Given the description of an element on the screen output the (x, y) to click on. 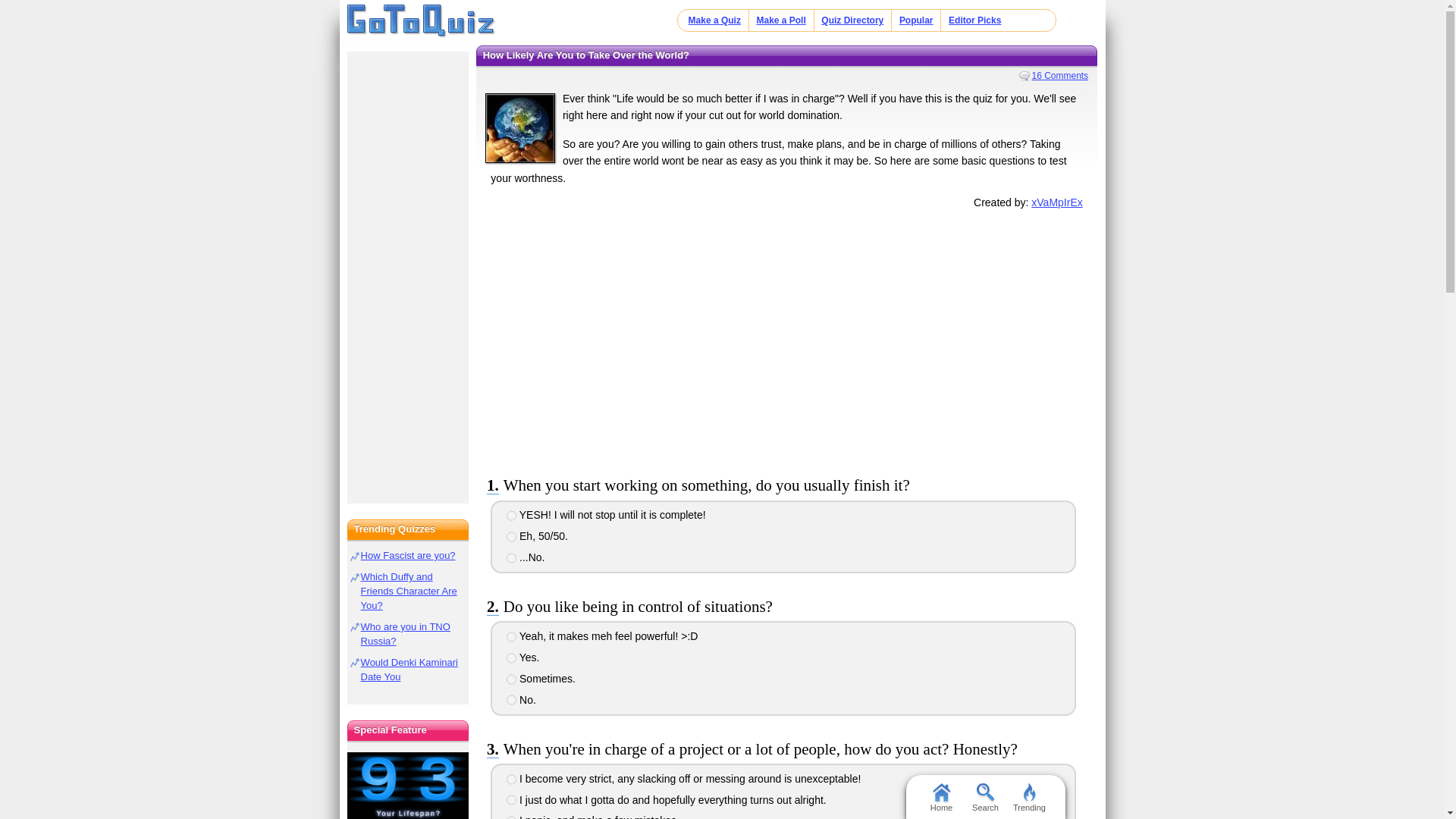
Advertisement (786, 339)
16 Comments (1054, 75)
Home (940, 796)
Who are you in TNO Russia? (405, 633)
Try our lifespan calculator (407, 785)
Which Duffy and Friends Character Are You? (409, 590)
2 (511, 657)
How Fascist are you? (408, 555)
Home (421, 20)
2 (511, 536)
